Given the description of an element on the screen output the (x, y) to click on. 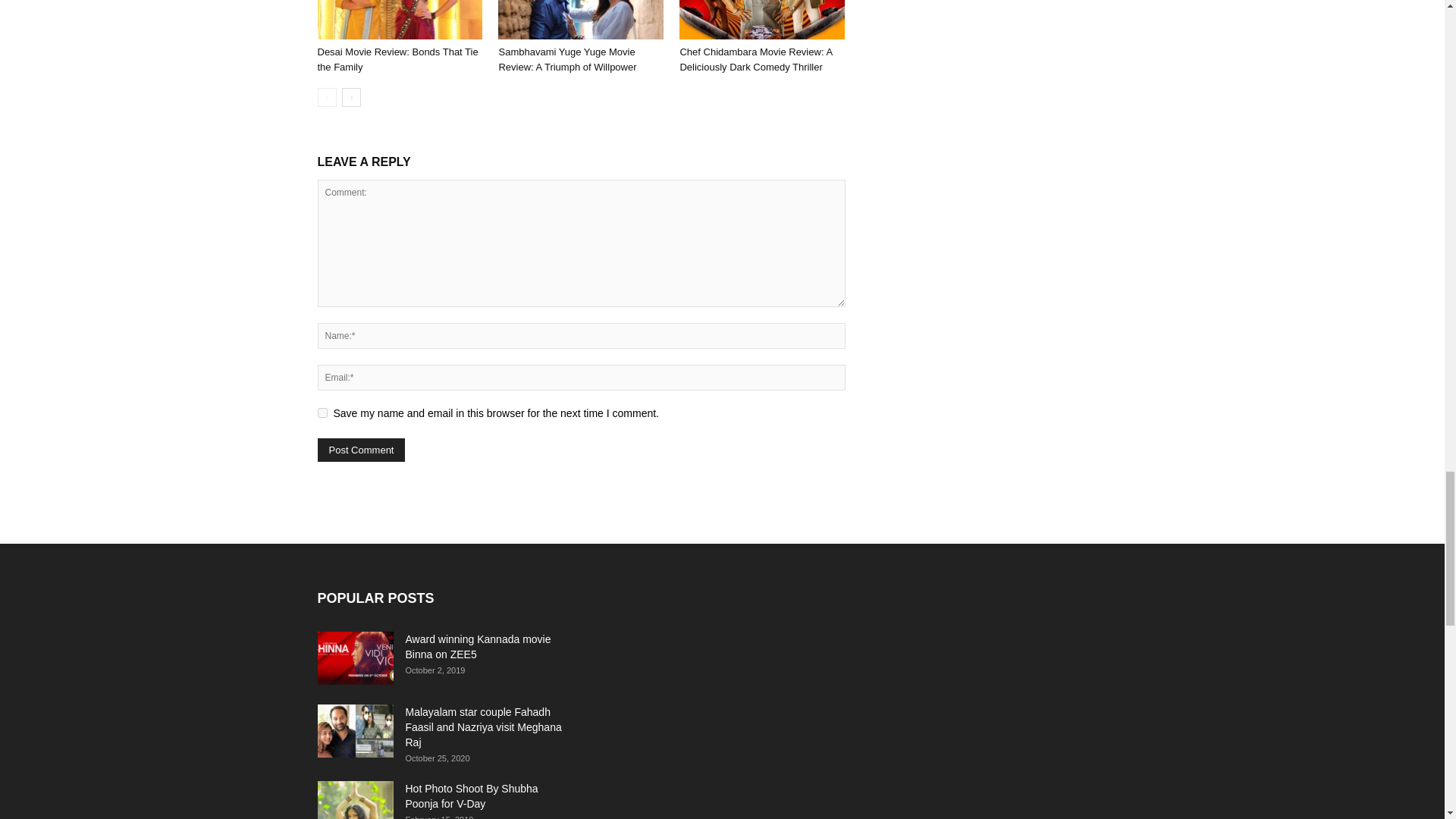
Post Comment (360, 449)
yes (321, 412)
